Given the description of an element on the screen output the (x, y) to click on. 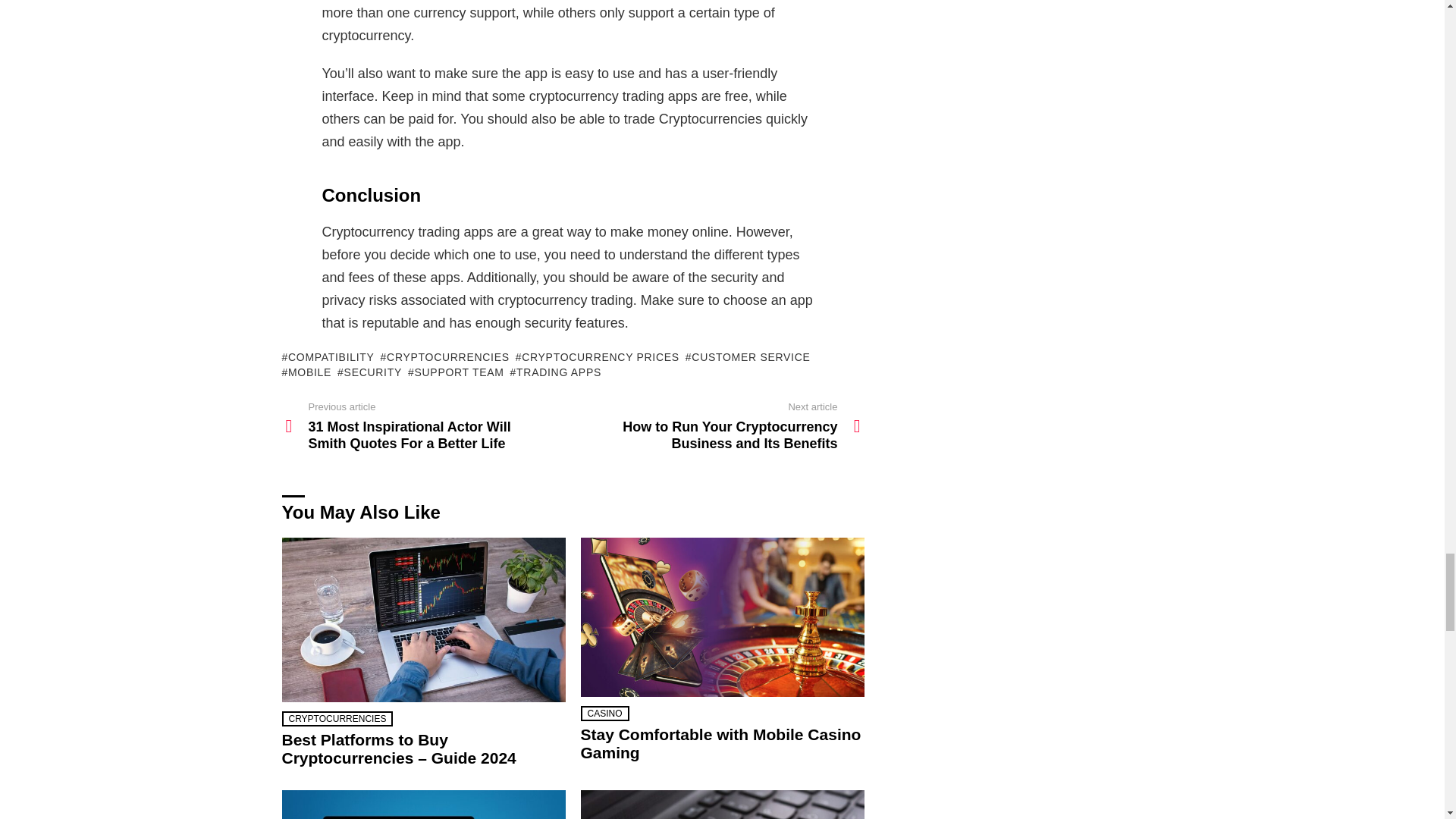
CRYPTOCURRENCY PRICES (597, 356)
Stay Comfortable with Mobile Casino Gaming (722, 617)
What to Look for in Board Portal Software (424, 804)
Step-by-Step Guide to Getting Your Ethereum Wallet Address (722, 804)
TRADING APPS (556, 372)
MOBILE (306, 372)
SUPPORT TEAM (455, 372)
CRYPTOCURRENCIES (444, 356)
